Given the description of an element on the screen output the (x, y) to click on. 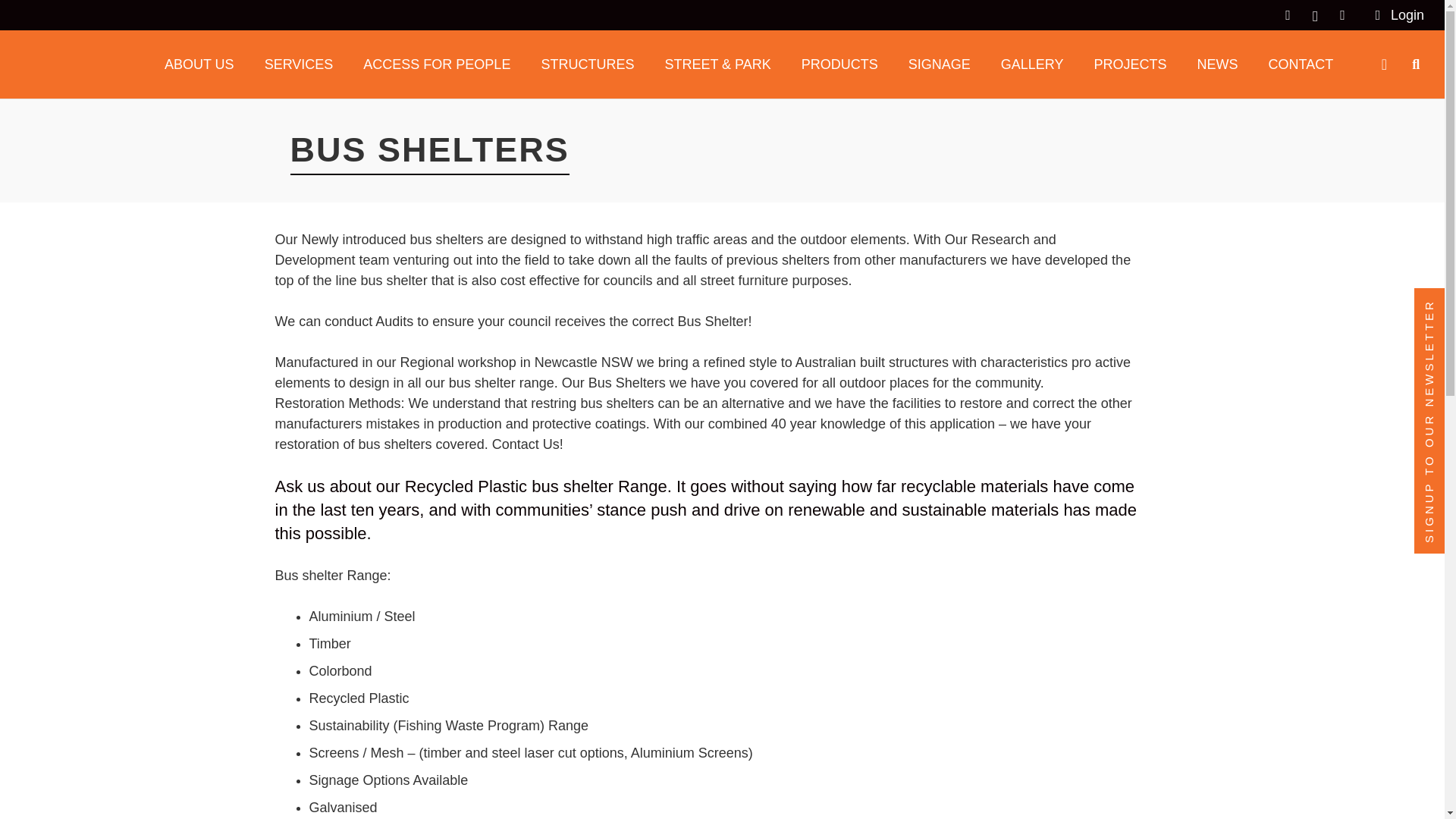
LinkedIn (1342, 14)
Instagram (1315, 15)
Facebook (1288, 14)
ABOUT US (198, 64)
ACCESS FOR PEOPLE (436, 64)
SERVICES (298, 64)
STRUCTURES (587, 64)
Login (1399, 14)
